Given the description of an element on the screen output the (x, y) to click on. 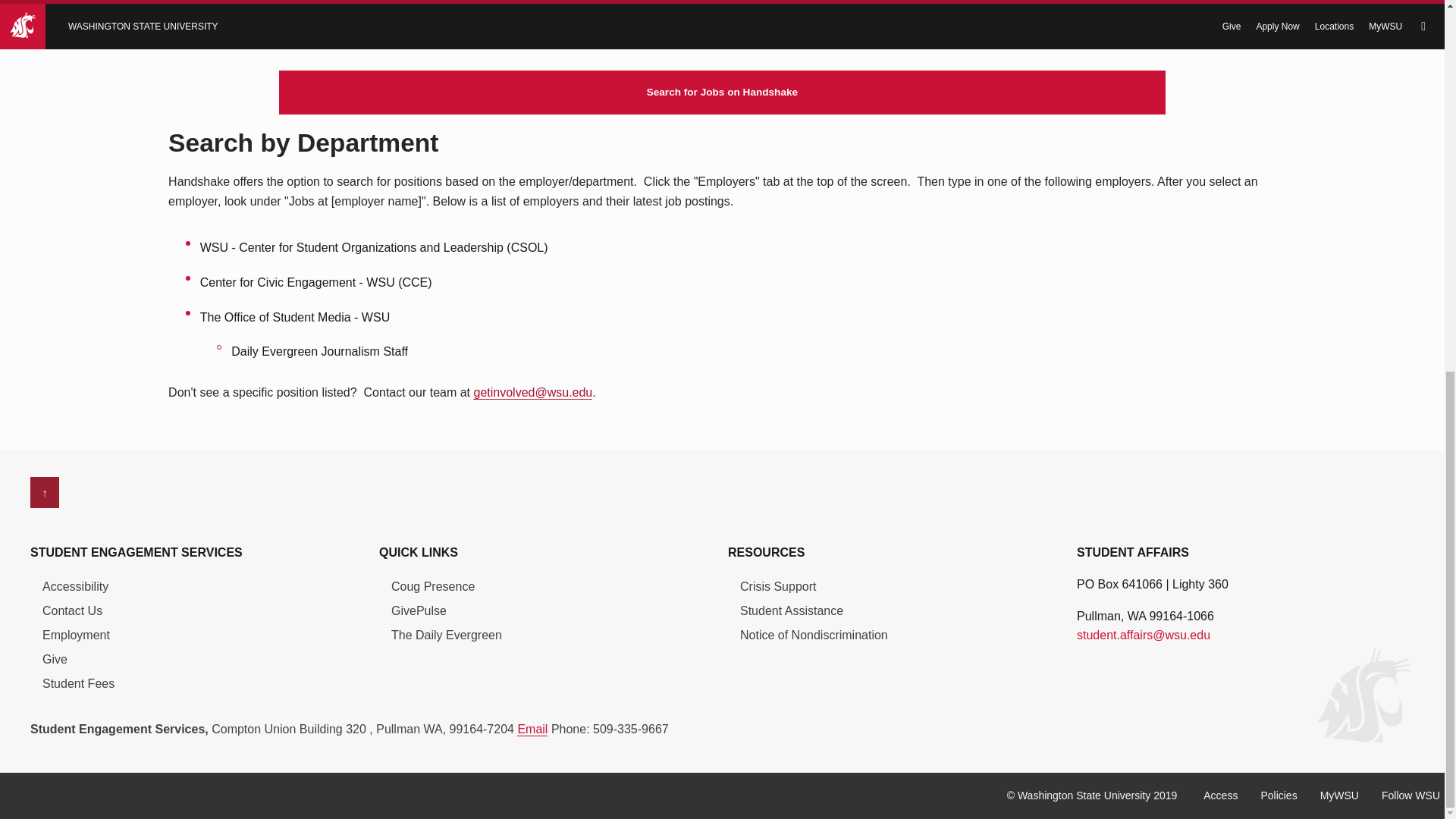
WSU Notice of Nondiscrimination (813, 632)
Contact us (71, 608)
Student Care (791, 608)
Accessibility (74, 584)
Cougar Health Crisis Resources (777, 584)
Employment (76, 632)
